Given the description of an element on the screen output the (x, y) to click on. 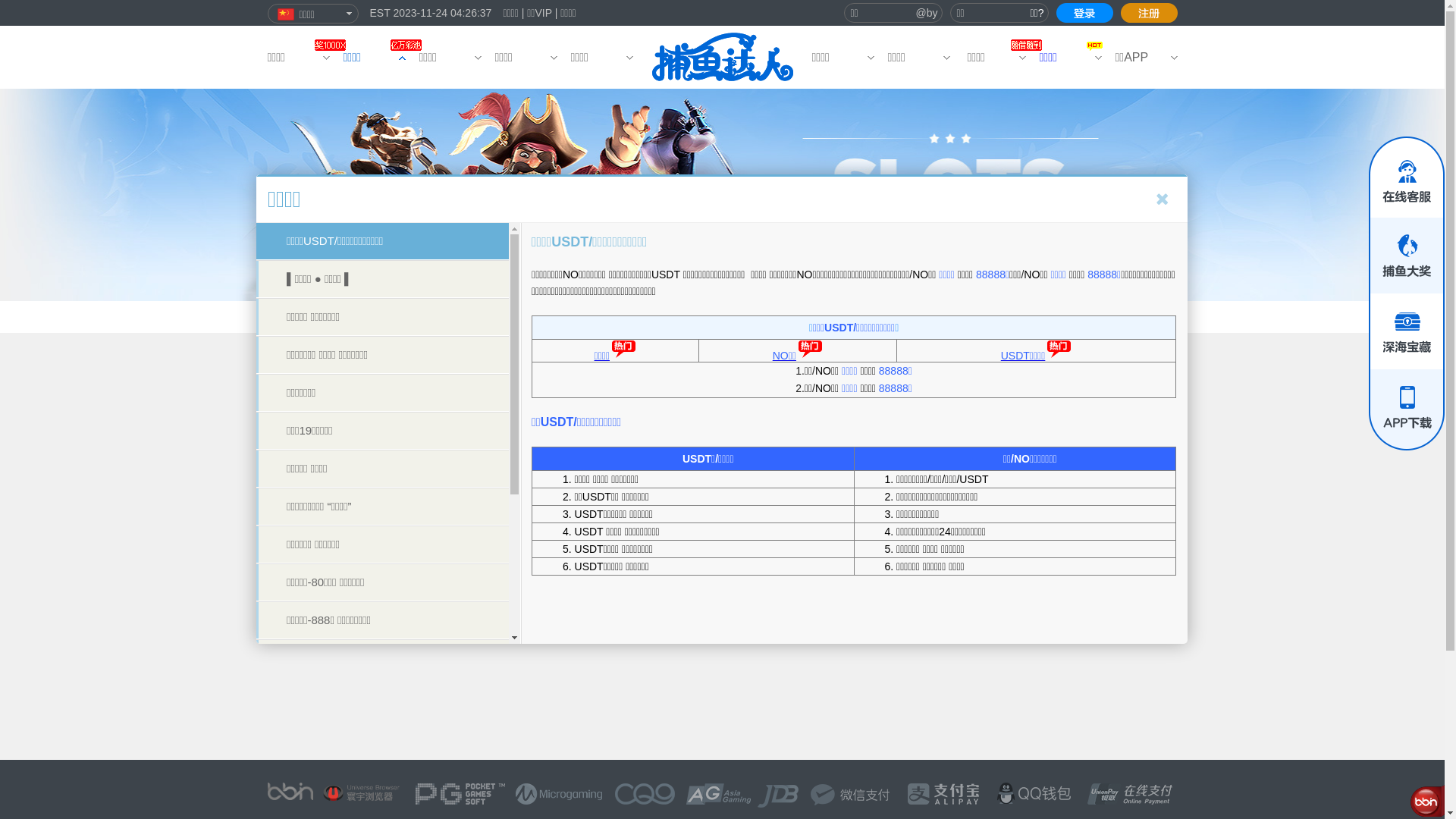
  Element type: text (1083, 12)
